Given the description of an element on the screen output the (x, y) to click on. 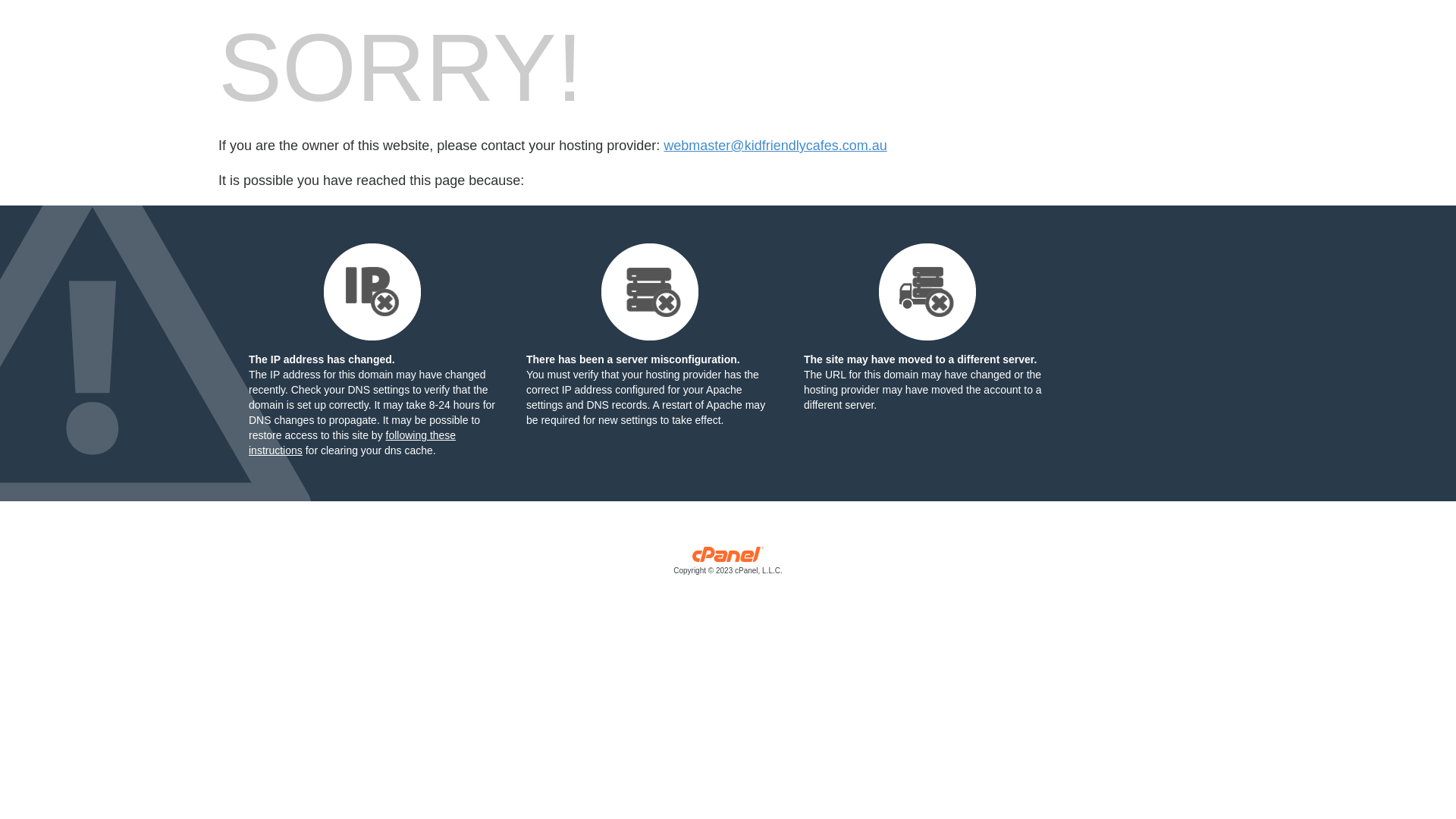
webmaster@kidfriendlycafes.com.au Element type: text (774, 145)
following these instructions Element type: text (351, 442)
